Given the description of an element on the screen output the (x, y) to click on. 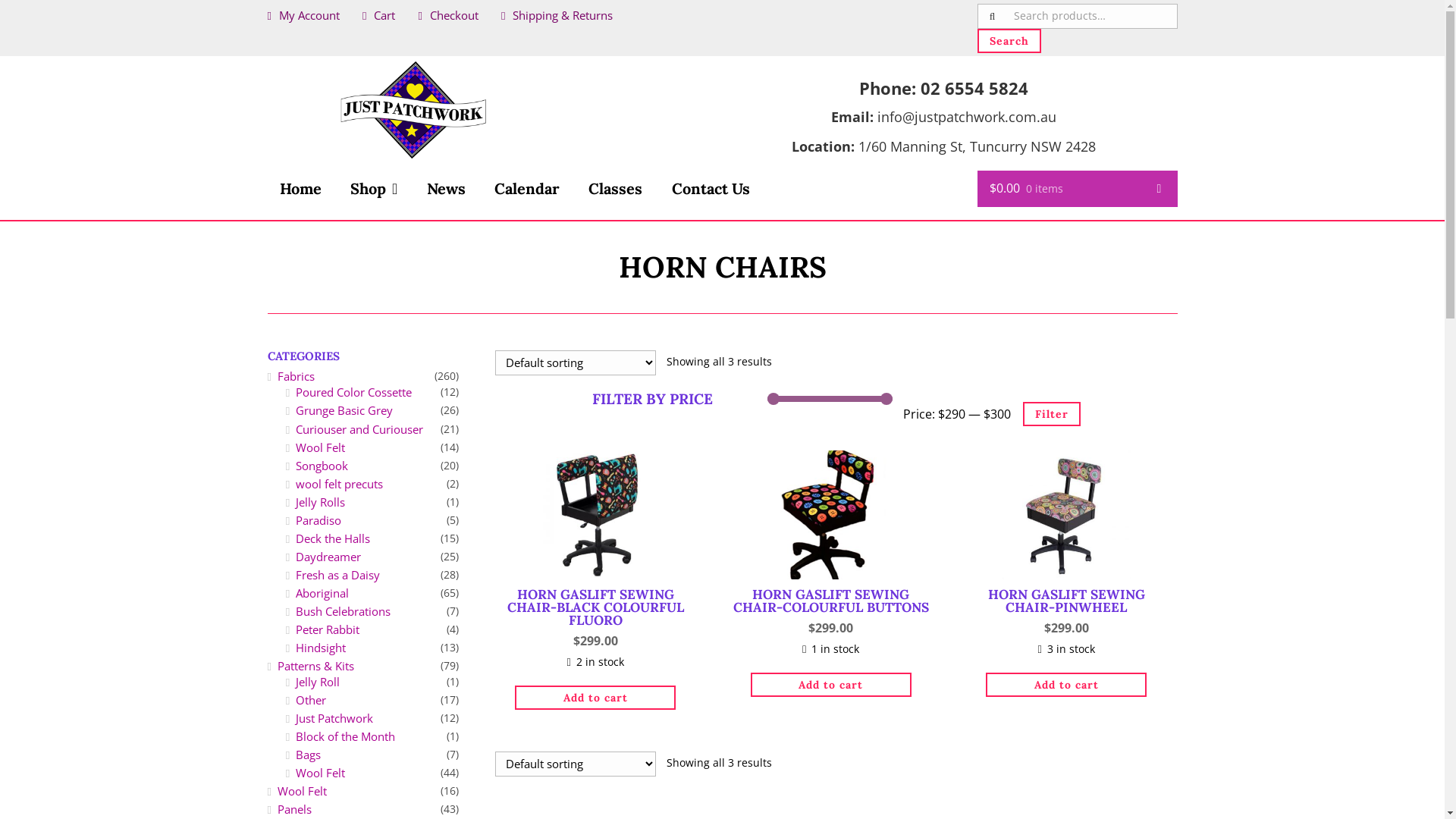
Add to cart Element type: text (830, 684)
Search Element type: text (1008, 40)
HORN GASLIFT SEWING CHAIR-COLOURFUL BUTTONS
$299.00 Element type: text (830, 545)
Filter Element type: text (1050, 413)
Aboriginal Element type: text (321, 592)
Fabrics Element type: text (295, 375)
Contact Us Element type: text (710, 188)
Paradiso Element type: text (318, 519)
Jelly Rolls Element type: text (320, 501)
Checkout Element type: text (447, 14)
HORN GASLIFT SEWING CHAIR-PINWHEEL
$299.00 Element type: text (1066, 545)
Cart Element type: text (378, 14)
Bags Element type: text (307, 754)
Wool Felt Element type: text (301, 790)
Skip to navigation Element type: text (266, 55)
Daydreamer Element type: text (327, 556)
02 6554 5824 Element type: text (974, 87)
Deck the Halls Element type: text (332, 538)
My Account Element type: text (302, 14)
Grunge Basic Grey Element type: text (343, 409)
Classes Element type: text (615, 188)
Calendar Element type: text (526, 188)
Block of the Month Element type: text (345, 735)
Wool Felt Element type: text (320, 447)
Wool Felt Element type: text (320, 772)
Add to cart Element type: text (594, 697)
Shipping & Returns Element type: text (556, 14)
Songbook Element type: text (321, 465)
Peter Rabbit Element type: text (327, 629)
Other Element type: text (310, 699)
Fresh as a Daisy Element type: text (337, 574)
Just Patchwork Element type: hover (412, 109)
HORN GASLIFT SEWING CHAIR-BLACK COLOURFUL FLUORO
$299.00 Element type: text (595, 551)
News Element type: text (445, 188)
Jelly Roll Element type: text (317, 681)
Home Element type: text (299, 188)
Patterns & Kits Element type: text (315, 665)
Hindsight Element type: text (320, 647)
Add to cart Element type: text (1065, 684)
$0.00 0 items Element type: text (1076, 188)
wool felt precuts Element type: text (338, 483)
Panels Element type: text (294, 808)
Curiouser and Curiouser Element type: text (359, 428)
Shop Element type: text (373, 188)
info@justpatchwork.com.au Element type: text (965, 116)
Bush Celebrations Element type: text (342, 610)
Poured Color Cossette Element type: text (353, 391)
Just Patchwork Element type: text (334, 717)
